Given the description of an element on the screen output the (x, y) to click on. 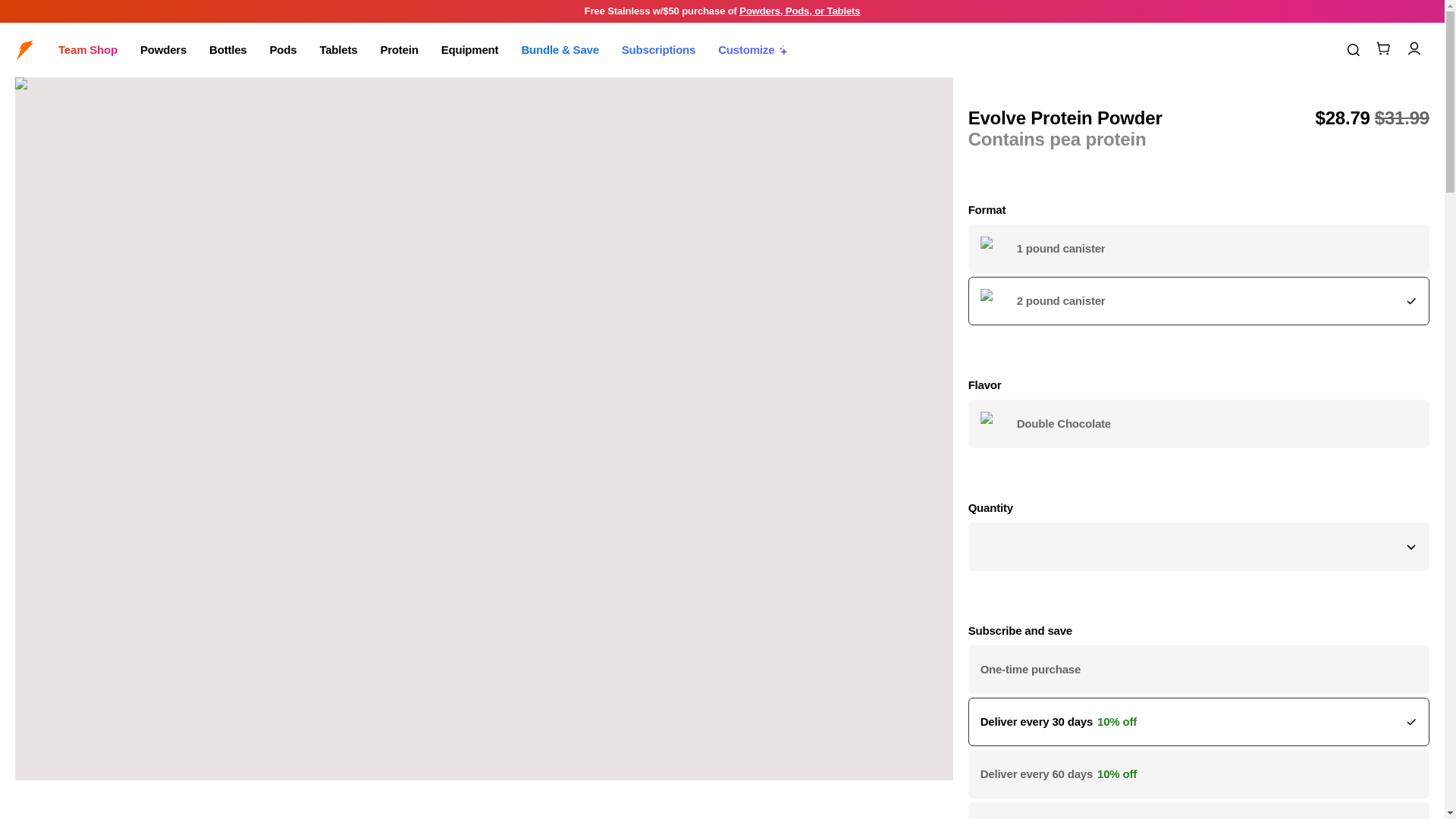
Team Shop (87, 49)
Account (1414, 48)
2 pound canister (1198, 300)
Bottles (227, 49)
Subscriptions (658, 49)
Shopping cart. Cart is empty. (1383, 48)
Equipment (470, 49)
Pods (283, 49)
1 pound canister (1198, 248)
Customize (753, 49)
Protein (398, 49)
Search (1353, 50)
One-time purchase (1198, 669)
Powders (162, 49)
